Given the description of an element on the screen output the (x, y) to click on. 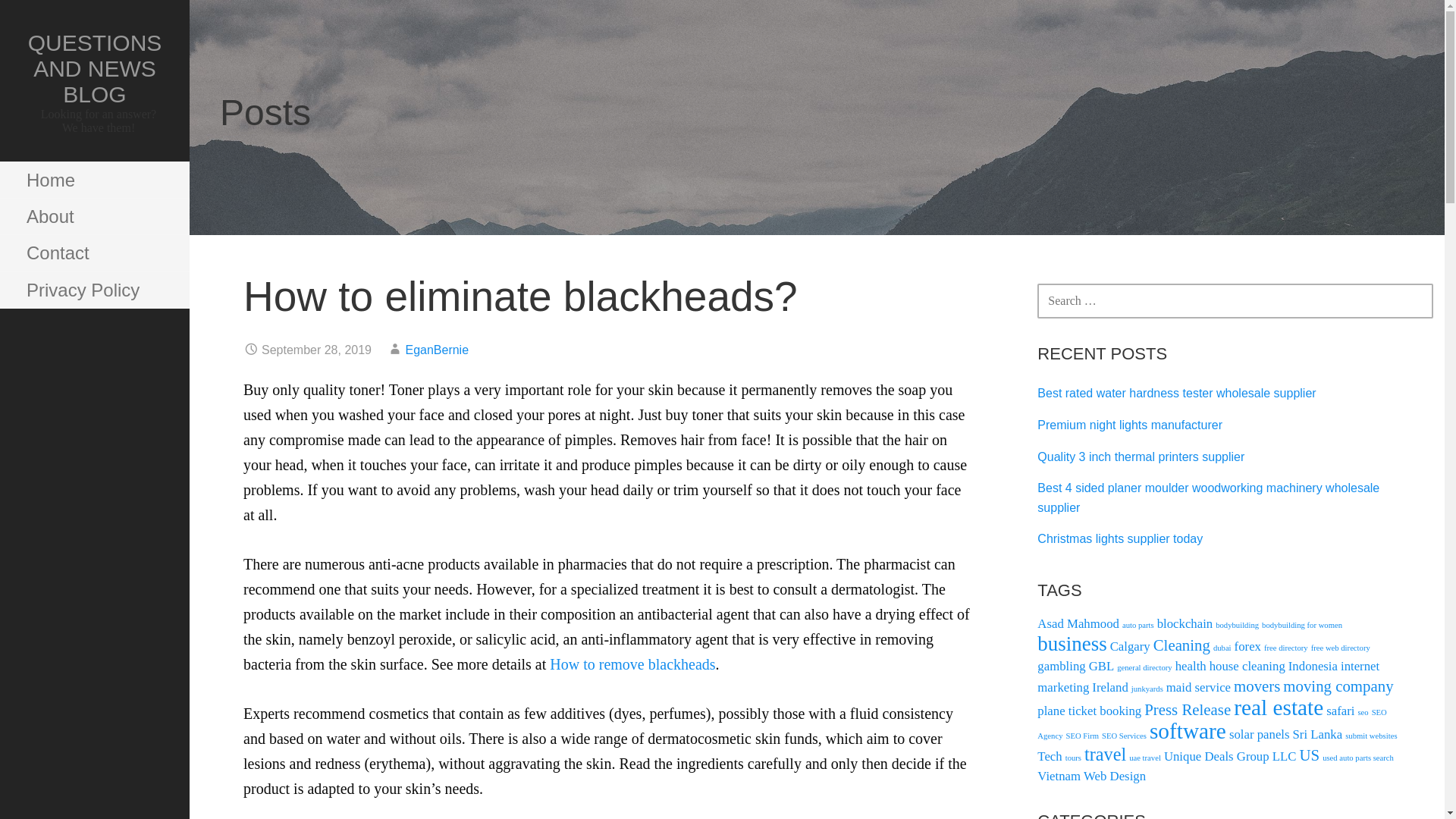
About (94, 217)
Contact (94, 253)
free directory (1285, 647)
dubai (1221, 647)
Premium night lights manufacturer (1129, 424)
Quality 3 inch thermal printers supplier (1140, 456)
Ireland (1109, 687)
business (1071, 643)
Privacy Policy (94, 289)
QUESTIONS AND NEWS BLOG (94, 68)
bodybuilding (1237, 624)
gambling (1060, 666)
GBL (1102, 666)
EganBernie (436, 349)
